Given the description of an element on the screen output the (x, y) to click on. 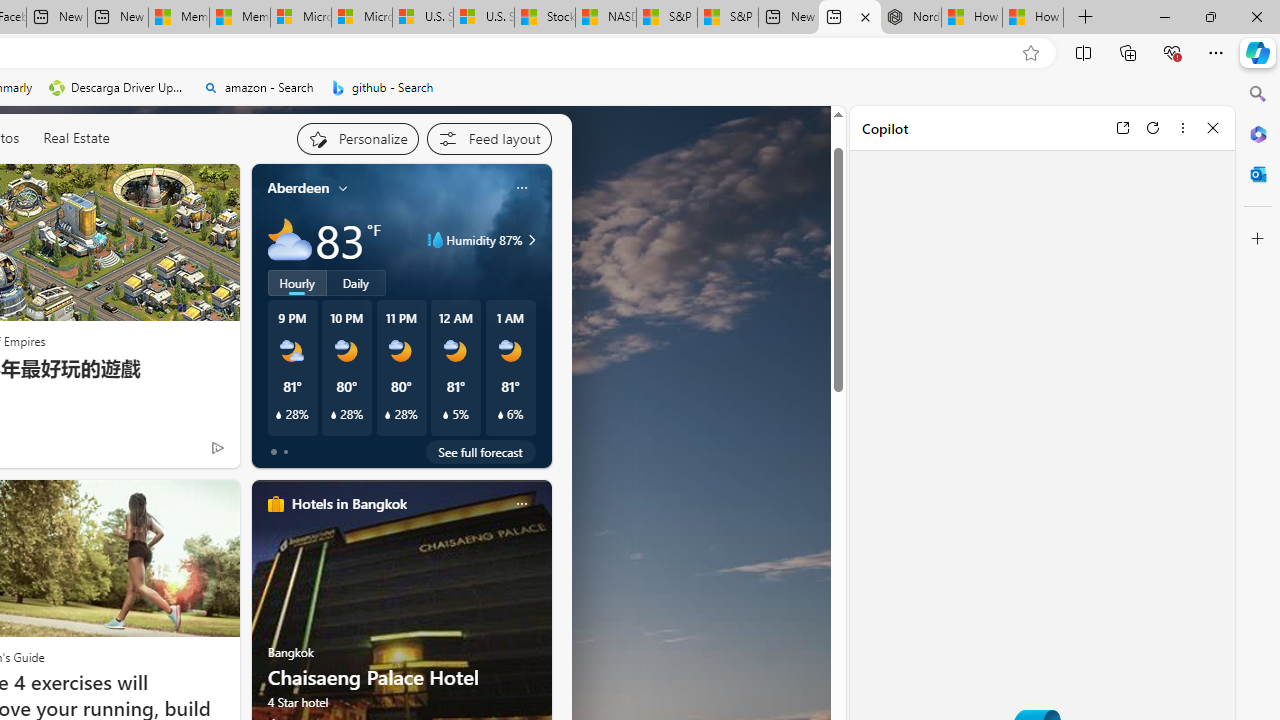
Outlook (1258, 174)
Humidity 87% (529, 240)
Class: weather-current-precipitation-glyph (500, 415)
Mostly cloudy (289, 240)
github - Search (381, 88)
Mostly cloudy (289, 240)
See full forecast (480, 451)
Microsoft 365 (1258, 133)
Hotels in Bangkok (348, 503)
Class: icon-img (521, 503)
